Given the description of an element on the screen output the (x, y) to click on. 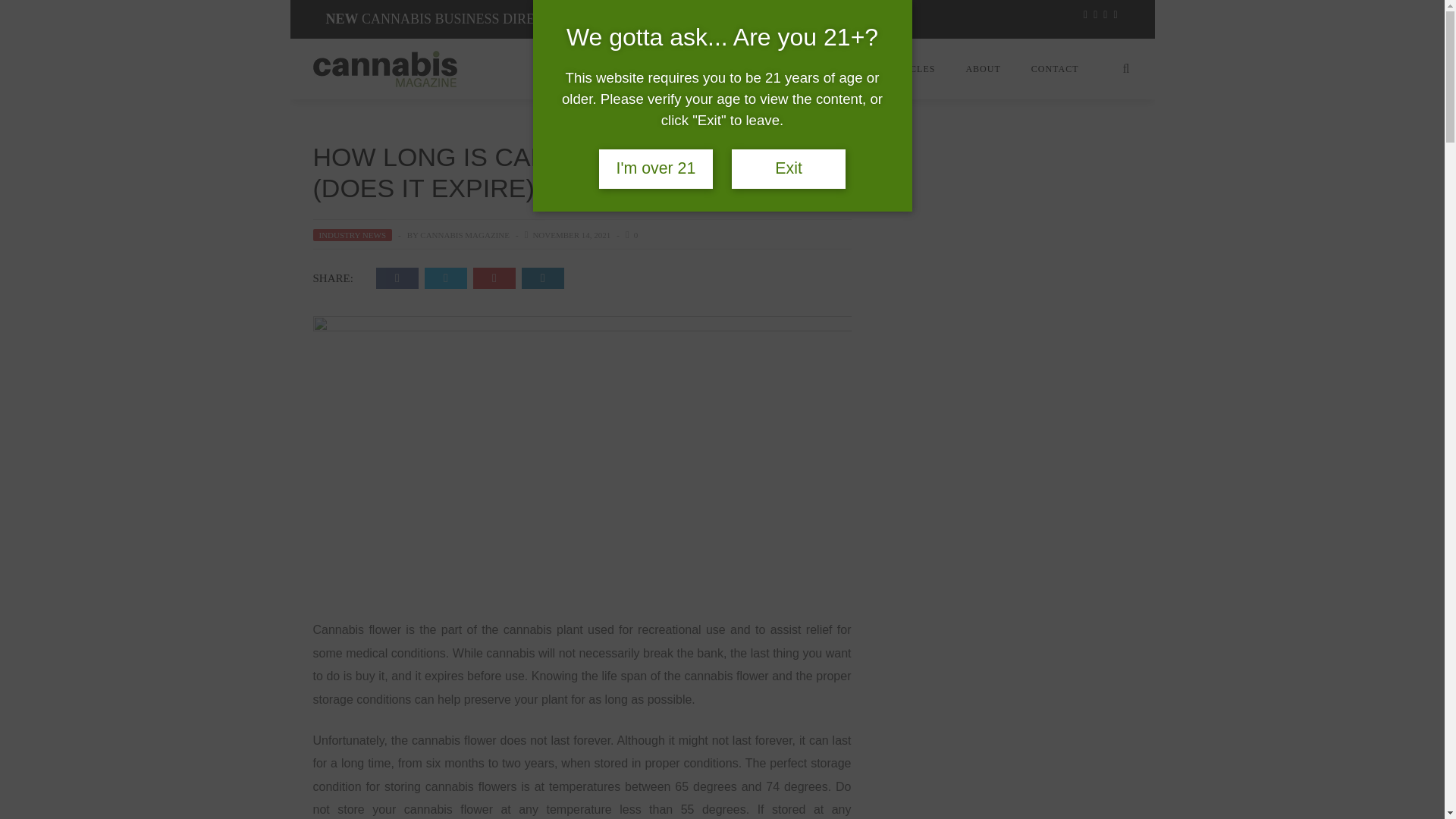
NEW CANNABIS BUSINESS DIRECTORY (452, 20)
HOME (785, 68)
INDUSTRY NEWS (352, 234)
CANNABIS ARTICLES (882, 68)
ABOUT (982, 68)
CONTACT (1055, 68)
